Given the description of an element on the screen output the (x, y) to click on. 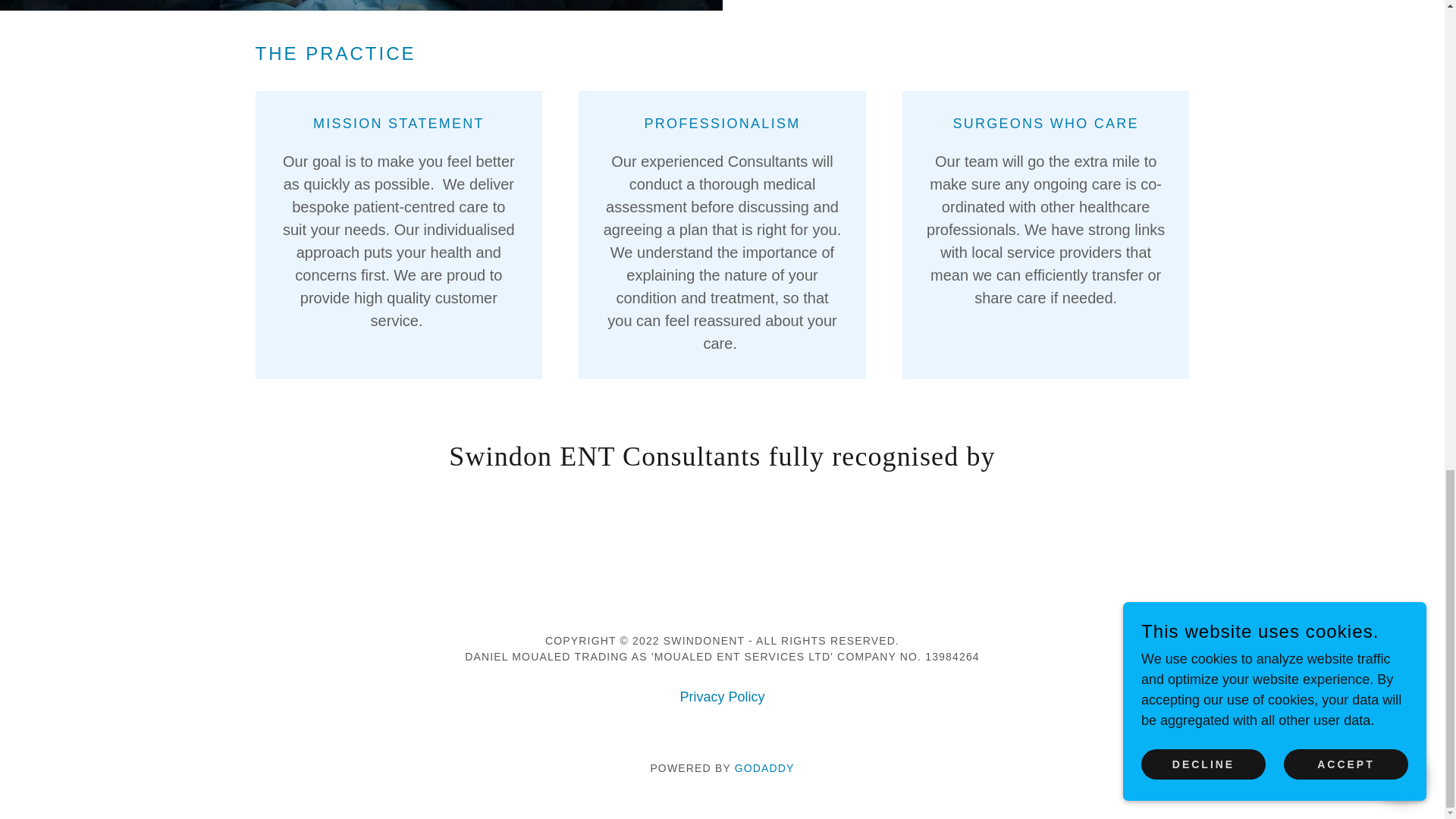
Privacy Policy (721, 697)
GODADDY (764, 767)
